Given the description of an element on the screen output the (x, y) to click on. 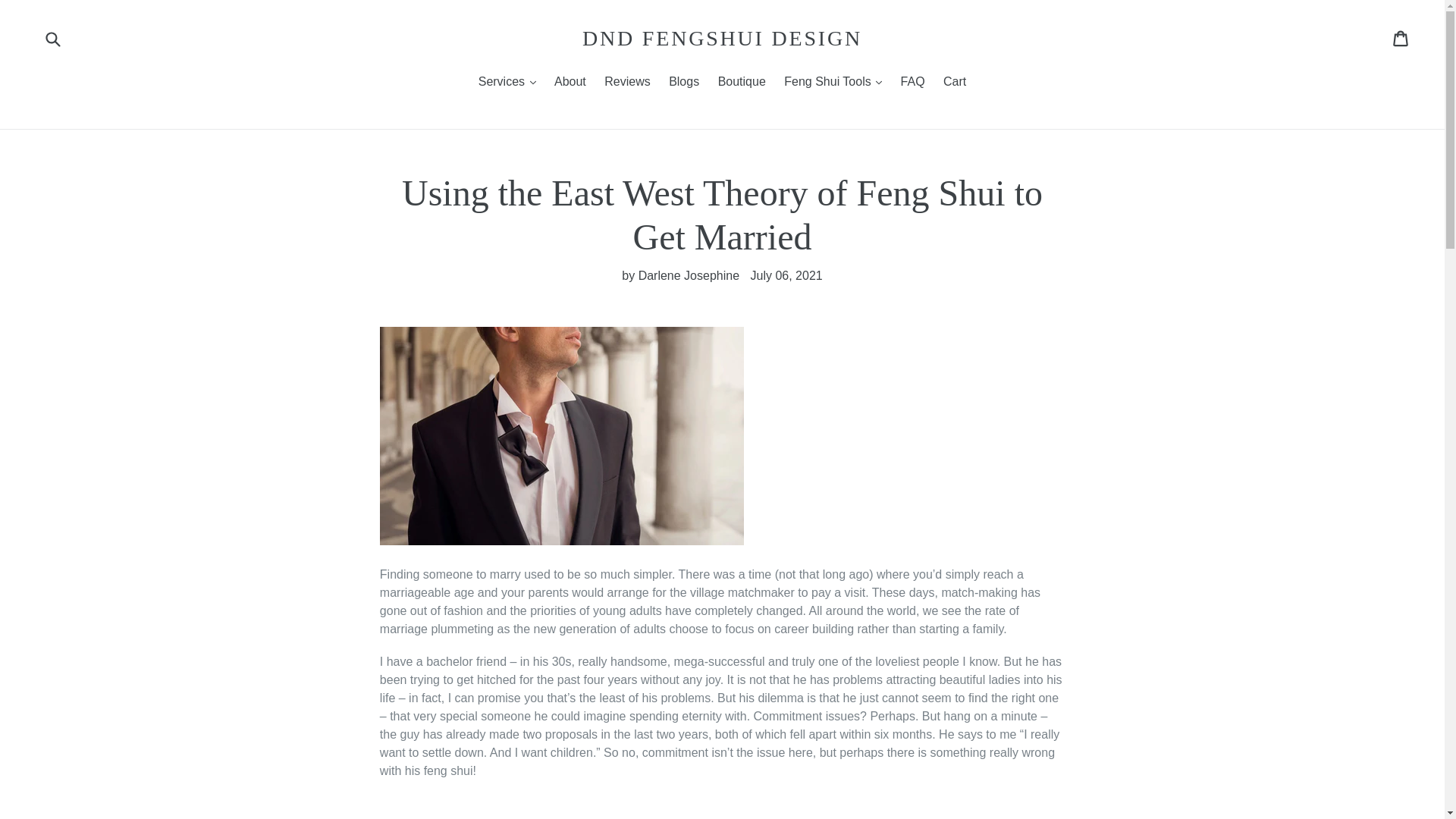
Boutique (741, 82)
About (570, 82)
Reviews (627, 82)
DND FENGSHUI DESIGN (721, 38)
FAQ (913, 82)
Blogs (683, 82)
Cart (955, 82)
